Given the description of an element on the screen output the (x, y) to click on. 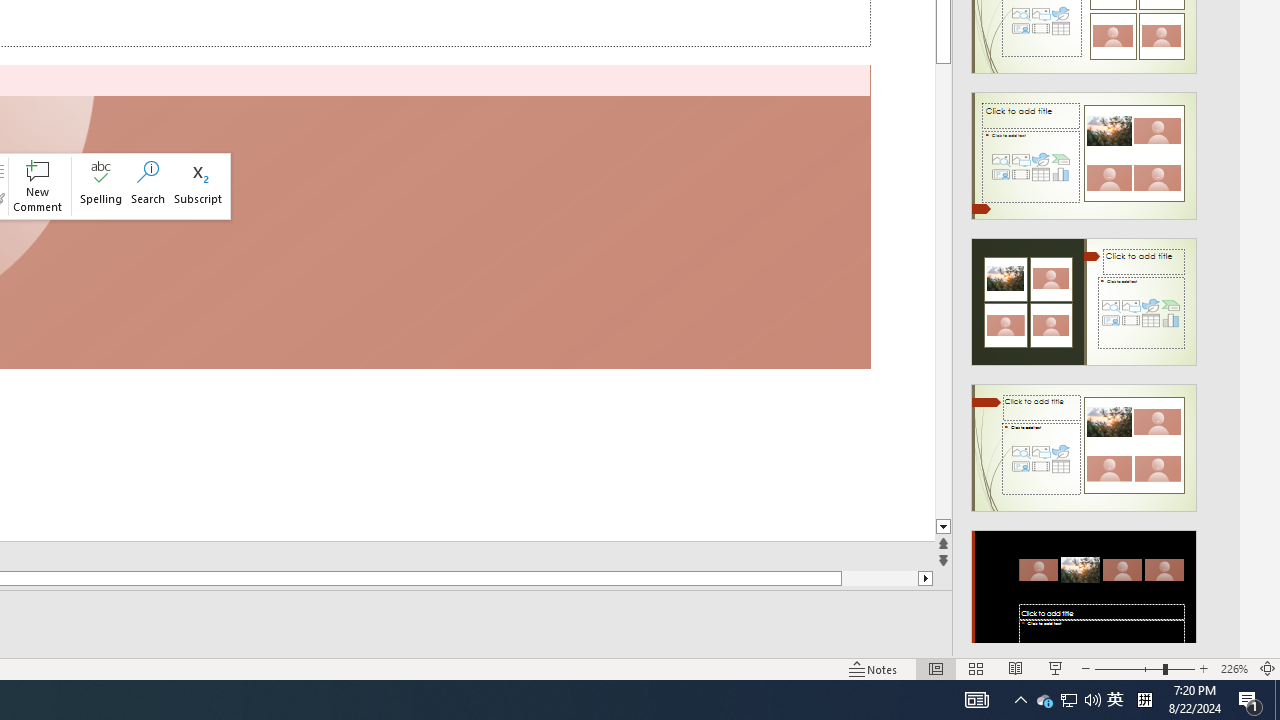
Subscript (198, 186)
Zoom 226% (1234, 668)
Spelling... (100, 186)
New Comment (37, 186)
